Given the description of an element on the screen output the (x, y) to click on. 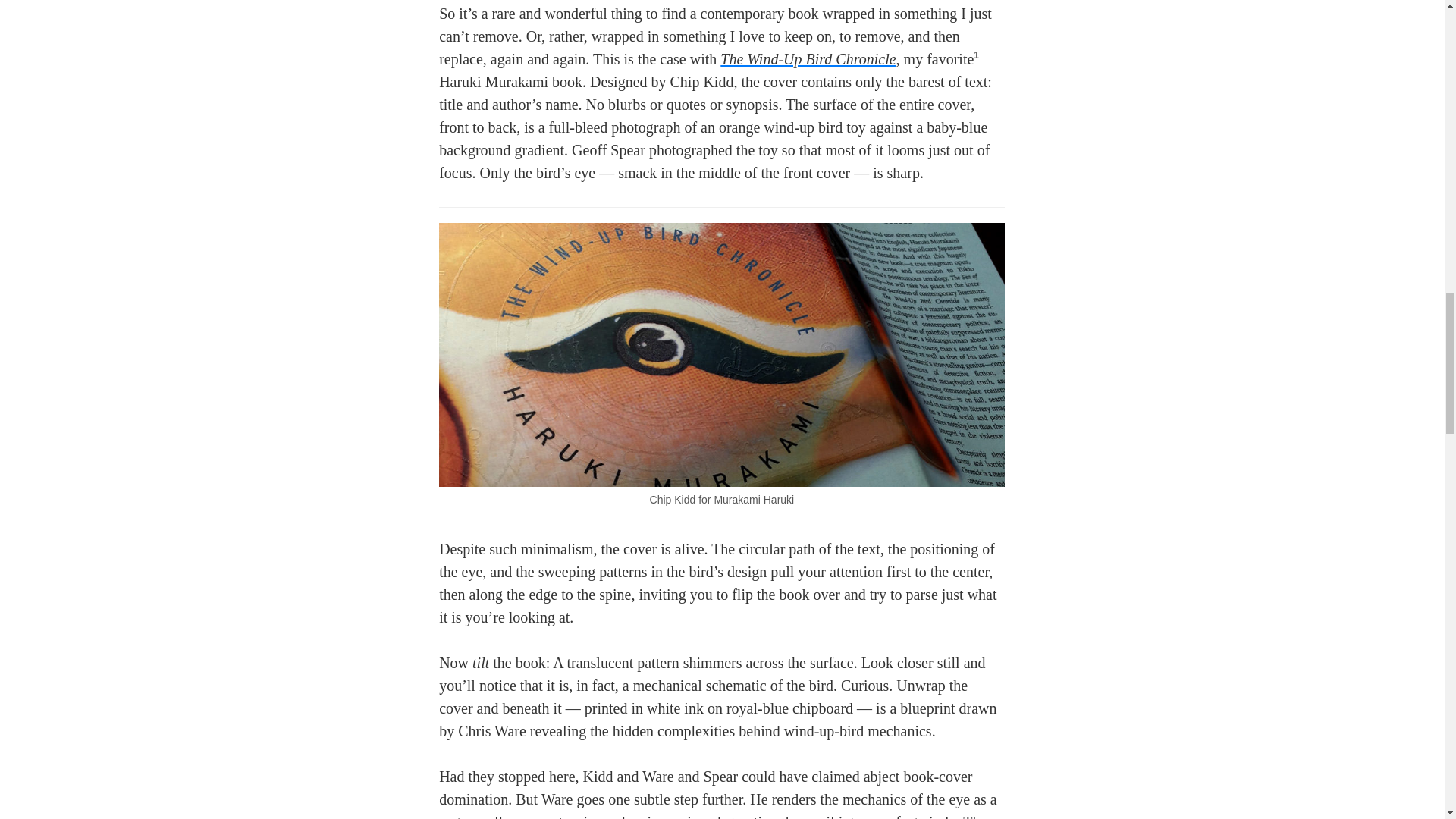
The Wind-Up Bird Chronicle (807, 58)
